Given the description of an element on the screen output the (x, y) to click on. 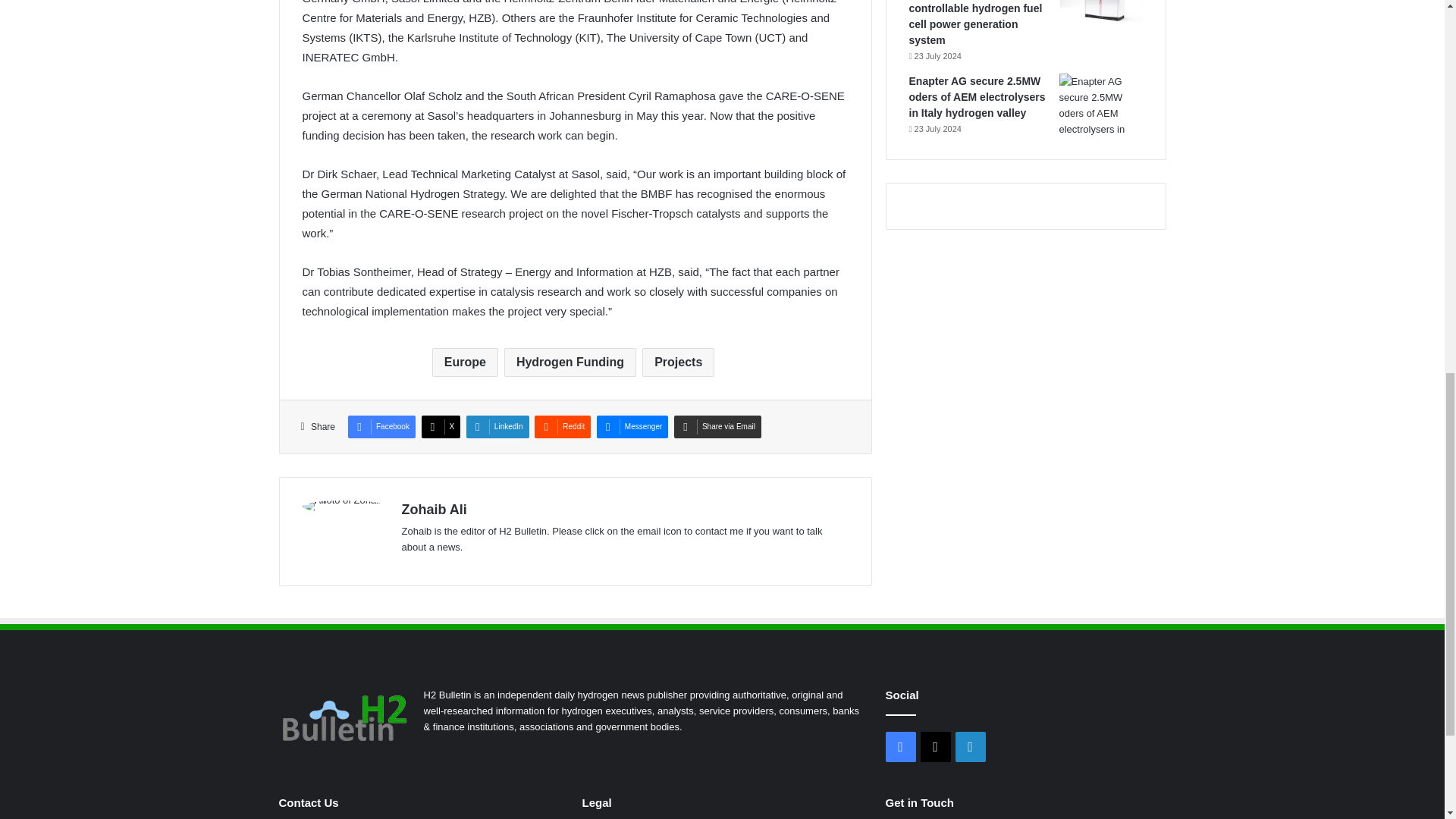
Messenger (632, 426)
Facebook (380, 426)
Projects (678, 362)
Hydrogen Funding (569, 362)
Share via Email (717, 426)
Facebook (380, 426)
Share via Email (717, 426)
LinkedIn (497, 426)
X (441, 426)
Messenger (632, 426)
Zohaib Ali (434, 509)
Europe (464, 362)
X (441, 426)
Reddit (562, 426)
LinkedIn (497, 426)
